Given the description of an element on the screen output the (x, y) to click on. 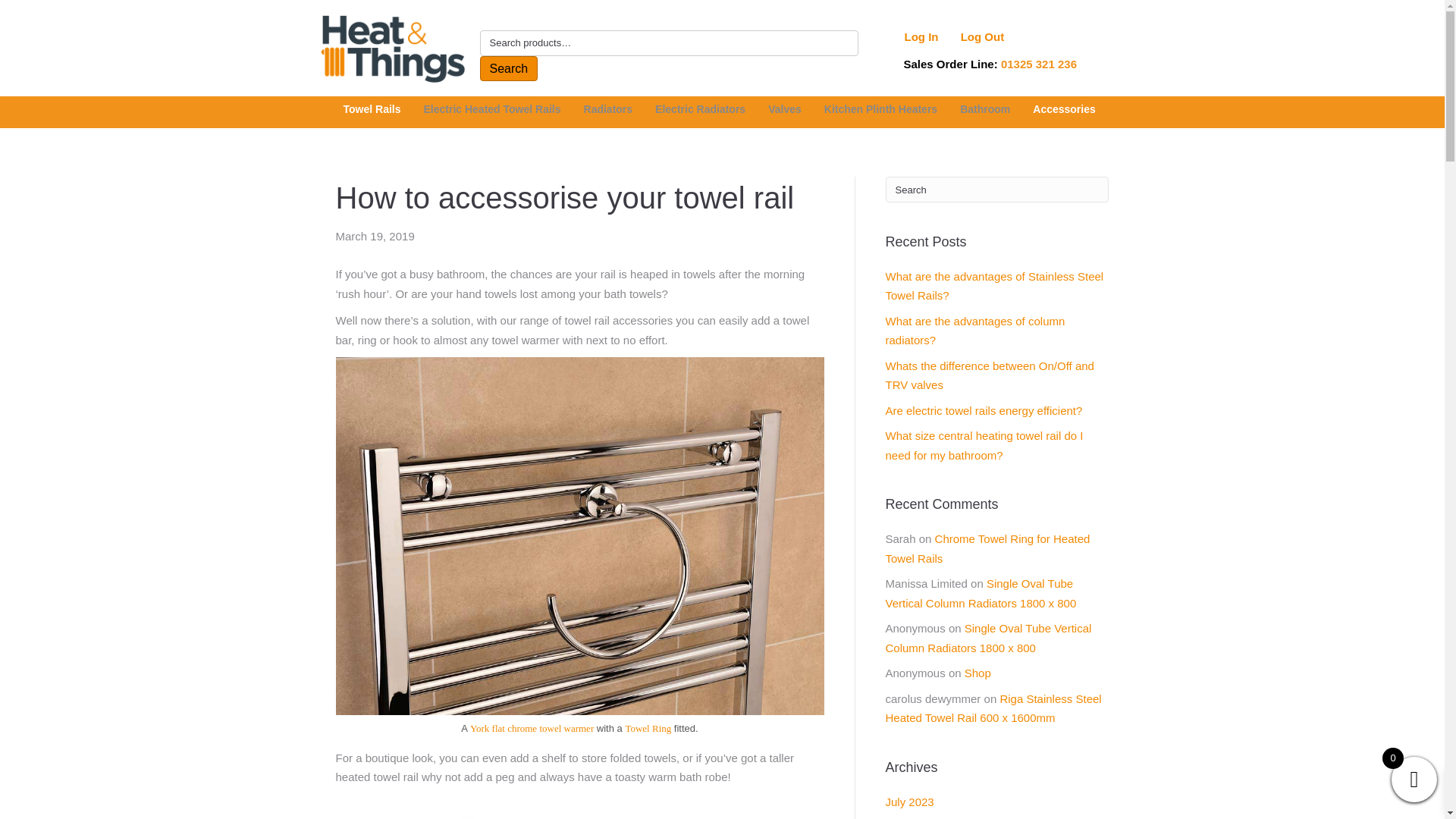
Radiators (611, 112)
Log Out (982, 36)
Search (508, 68)
Electric Heated Towel Rails (494, 112)
Towel Rails (374, 112)
Type and press Enter to search. (997, 189)
Log In (920, 36)
heatthingslogo (392, 48)
